Given the description of an element on the screen output the (x, y) to click on. 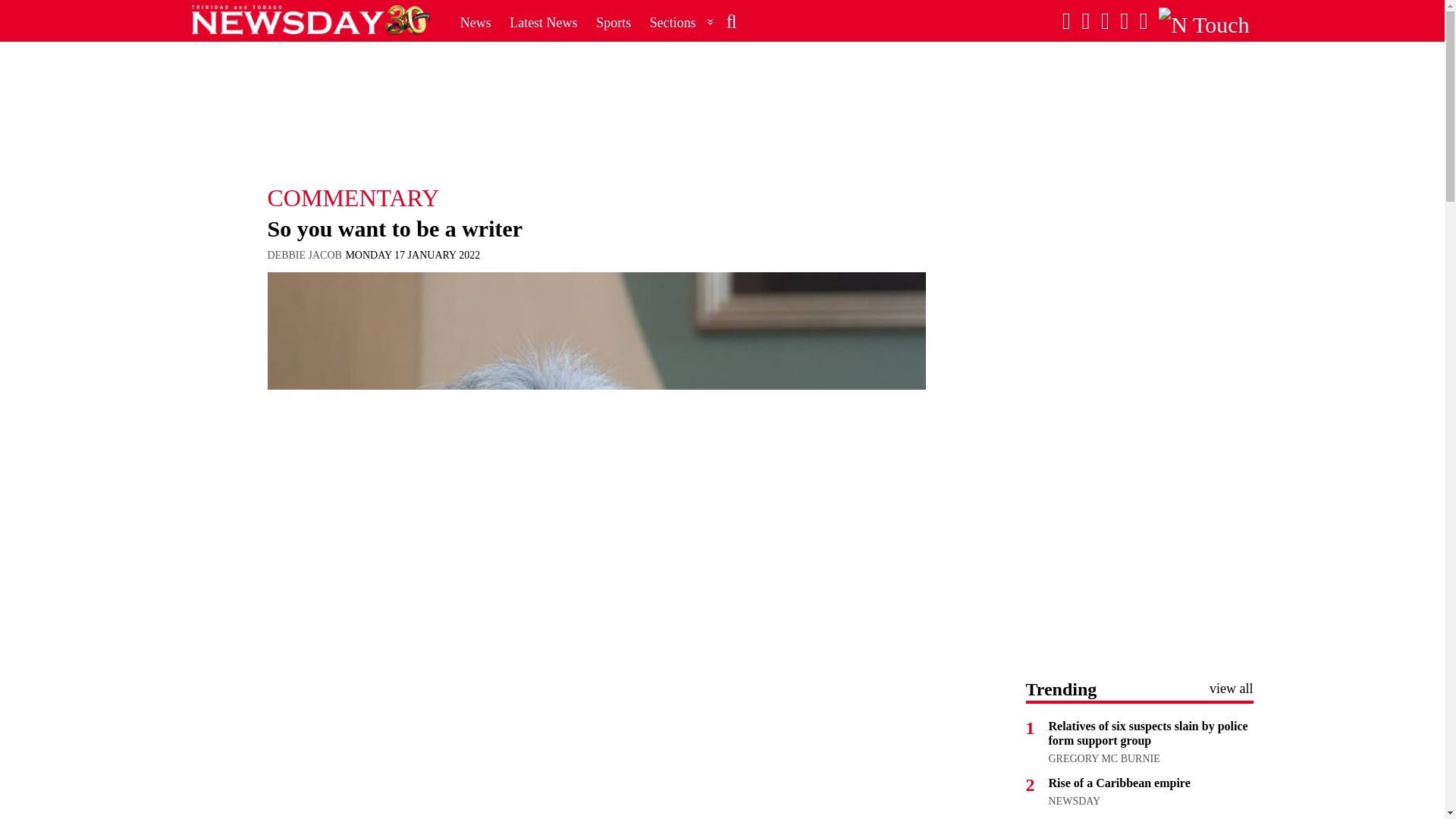
Sections (682, 22)
News (475, 22)
Latest News (543, 22)
Relatives of six suspects slain by police form support group (1147, 732)
NEWSDAY (1074, 800)
Rise of a Caribbean empire (1118, 782)
Sports (613, 22)
GREGORY MC BURNIE (1103, 758)
COMMENTARY (595, 197)
Sections (682, 22)
